Given the description of an element on the screen output the (x, y) to click on. 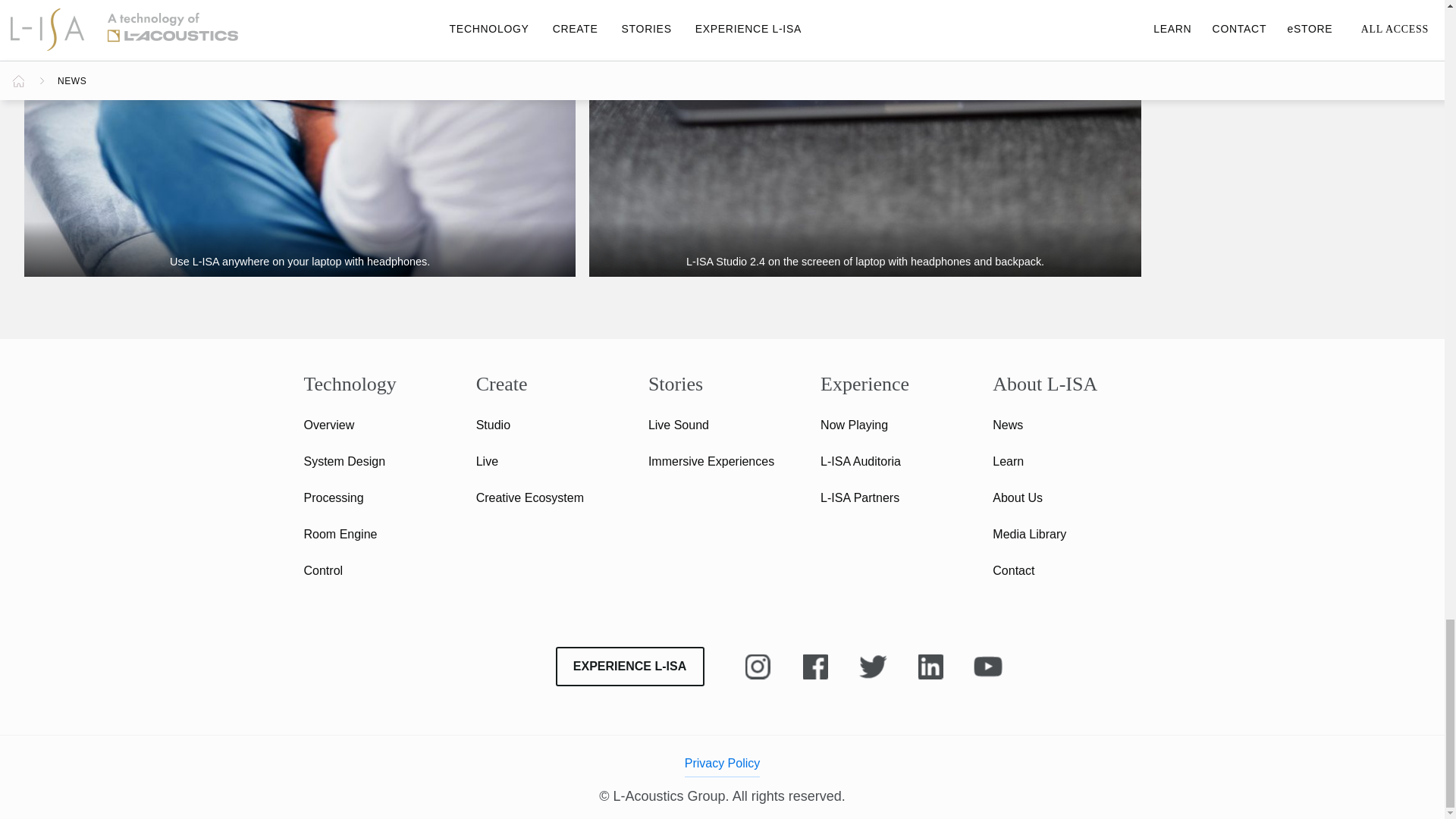
System Design (343, 461)
Room Engine (339, 533)
Creative Ecosystem (529, 497)
Overview (327, 424)
Studio (493, 424)
L-ISA Partners (860, 497)
Live Sound (678, 424)
L-ISA Auditoria (861, 461)
News (1007, 424)
Control (322, 570)
